Given the description of an element on the screen output the (x, y) to click on. 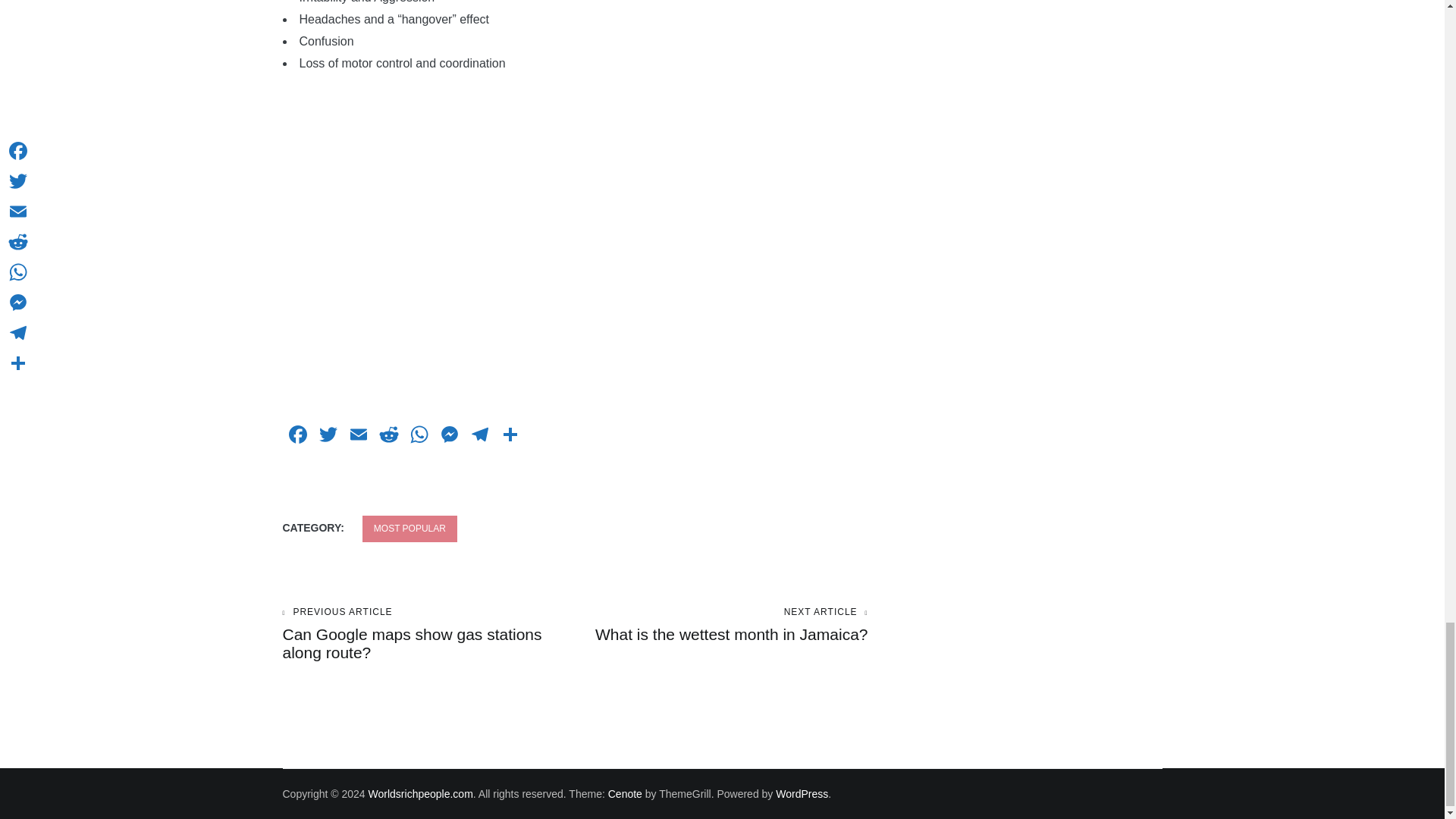
Email (357, 436)
WhatsApp (418, 436)
Email (357, 436)
Twitter (327, 436)
WhatsApp (418, 436)
Facebook (297, 436)
Facebook (297, 436)
Messenger (448, 436)
Twitter (327, 436)
Telegram (479, 436)
